Given the description of an element on the screen output the (x, y) to click on. 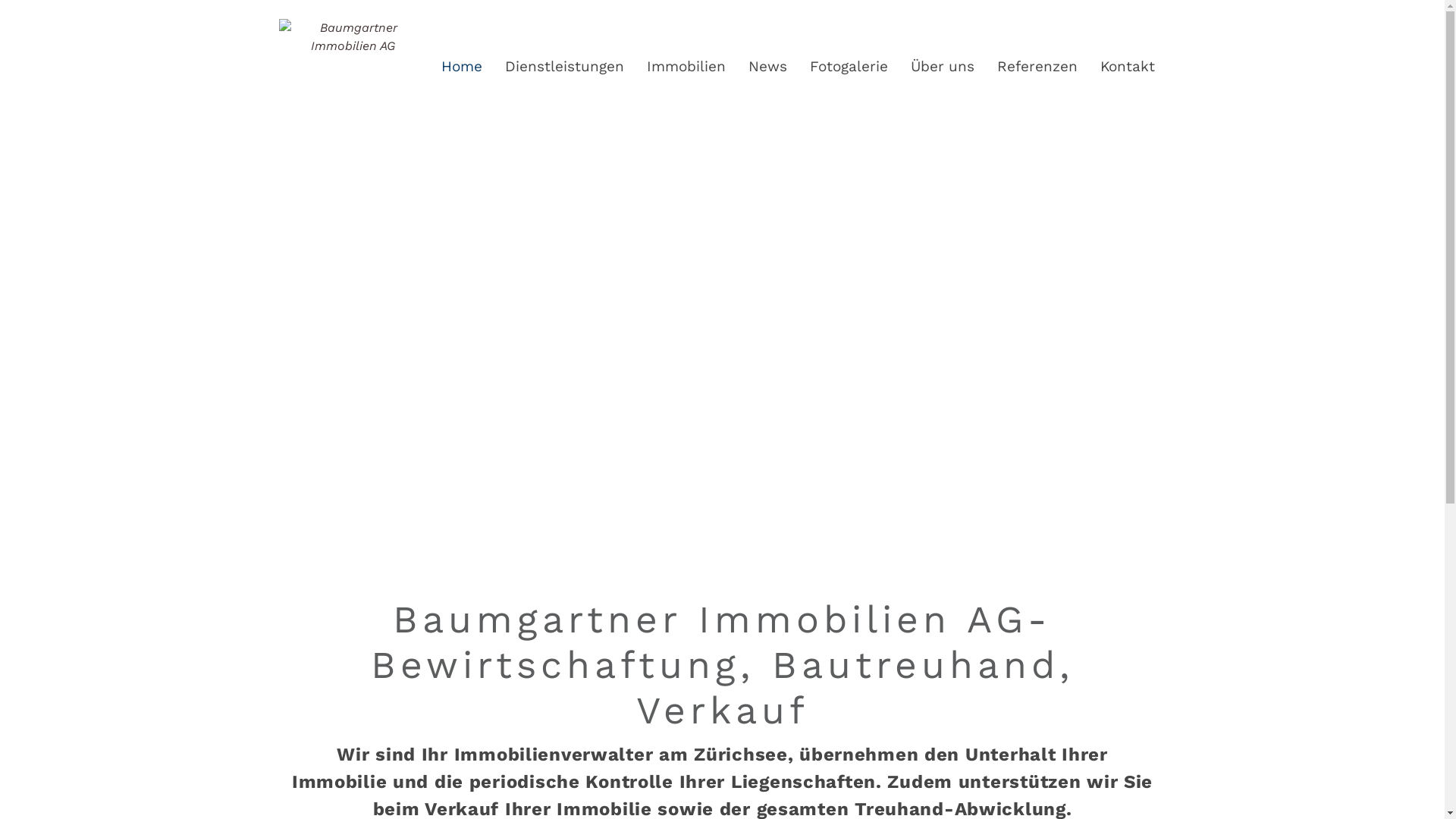
Kontakt Element type: text (1115, 67)
Fotogalerie Element type: text (837, 67)
News Element type: text (755, 67)
Immobilien Element type: text (673, 67)
Home Element type: text (450, 67)
Referenzen Element type: text (1024, 67)
Dienstleistungen Element type: text (553, 67)
